Given the description of an element on the screen output the (x, y) to click on. 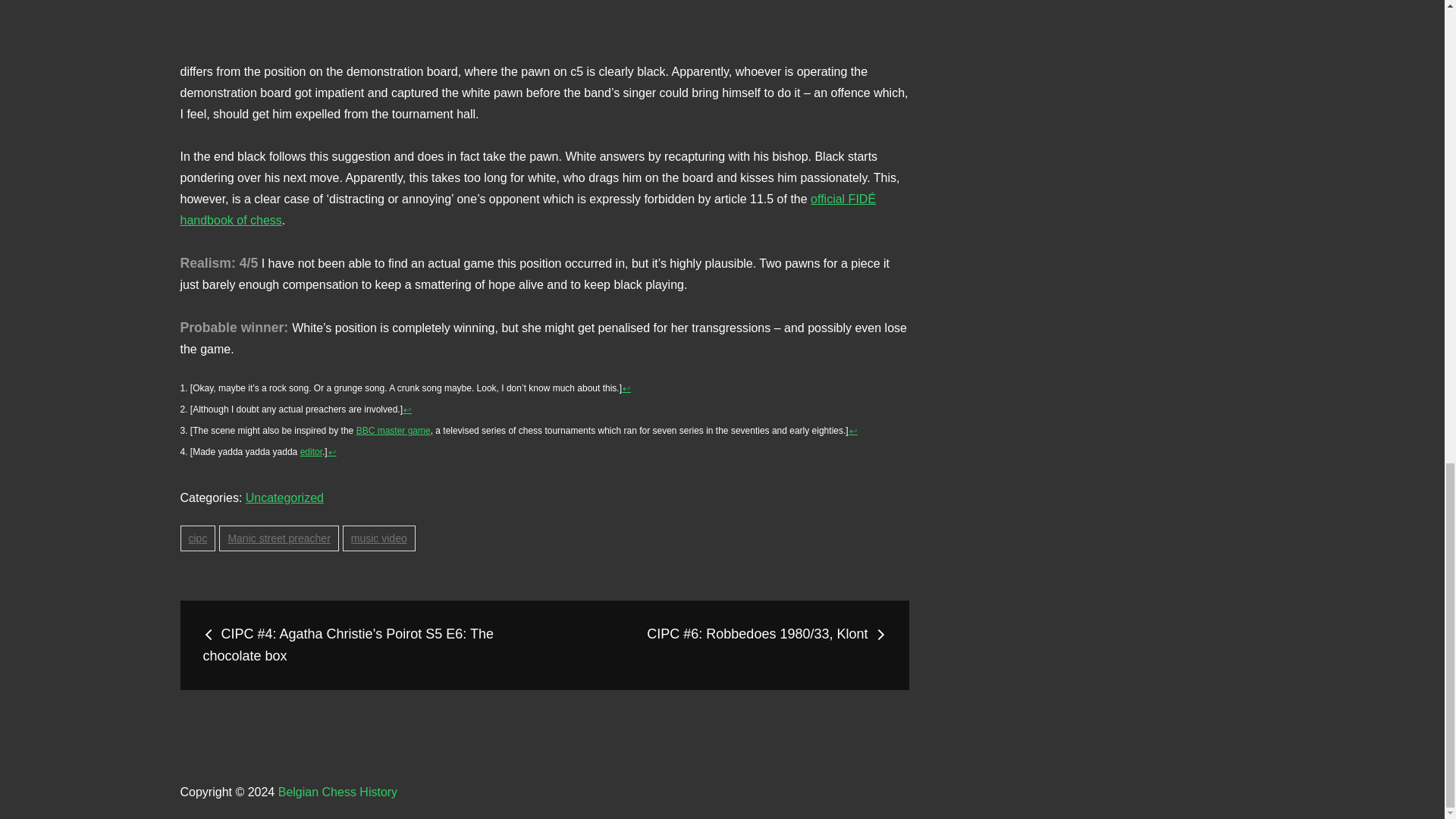
Manic street preacher (278, 538)
BBC master game (393, 430)
Belgian Chess History (337, 791)
cipc (197, 538)
editor (310, 451)
music video (378, 538)
I see a white pawn and I want to turn it black. (544, 19)
Uncategorized (284, 497)
